Given the description of an element on the screen output the (x, y) to click on. 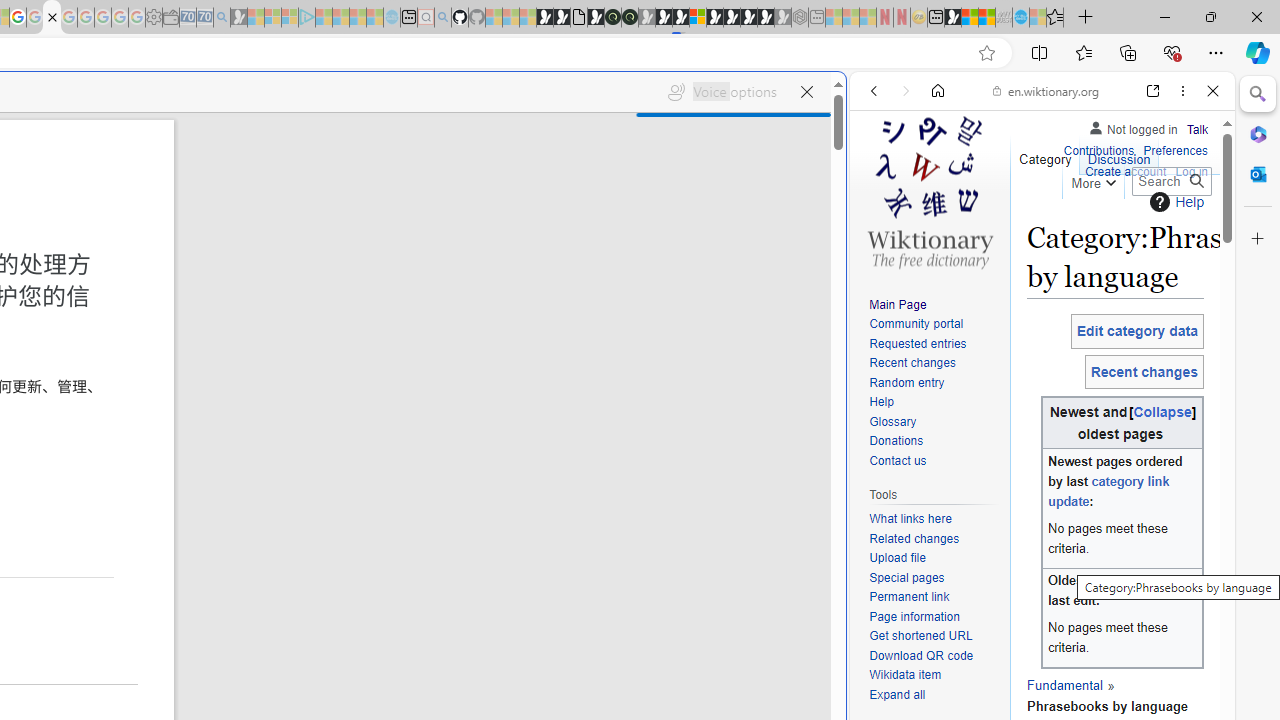
What links here (934, 519)
[Collapse] (1161, 412)
Permanent link (909, 596)
Fundamental (1064, 684)
More (1092, 179)
